Given the description of an element on the screen output the (x, y) to click on. 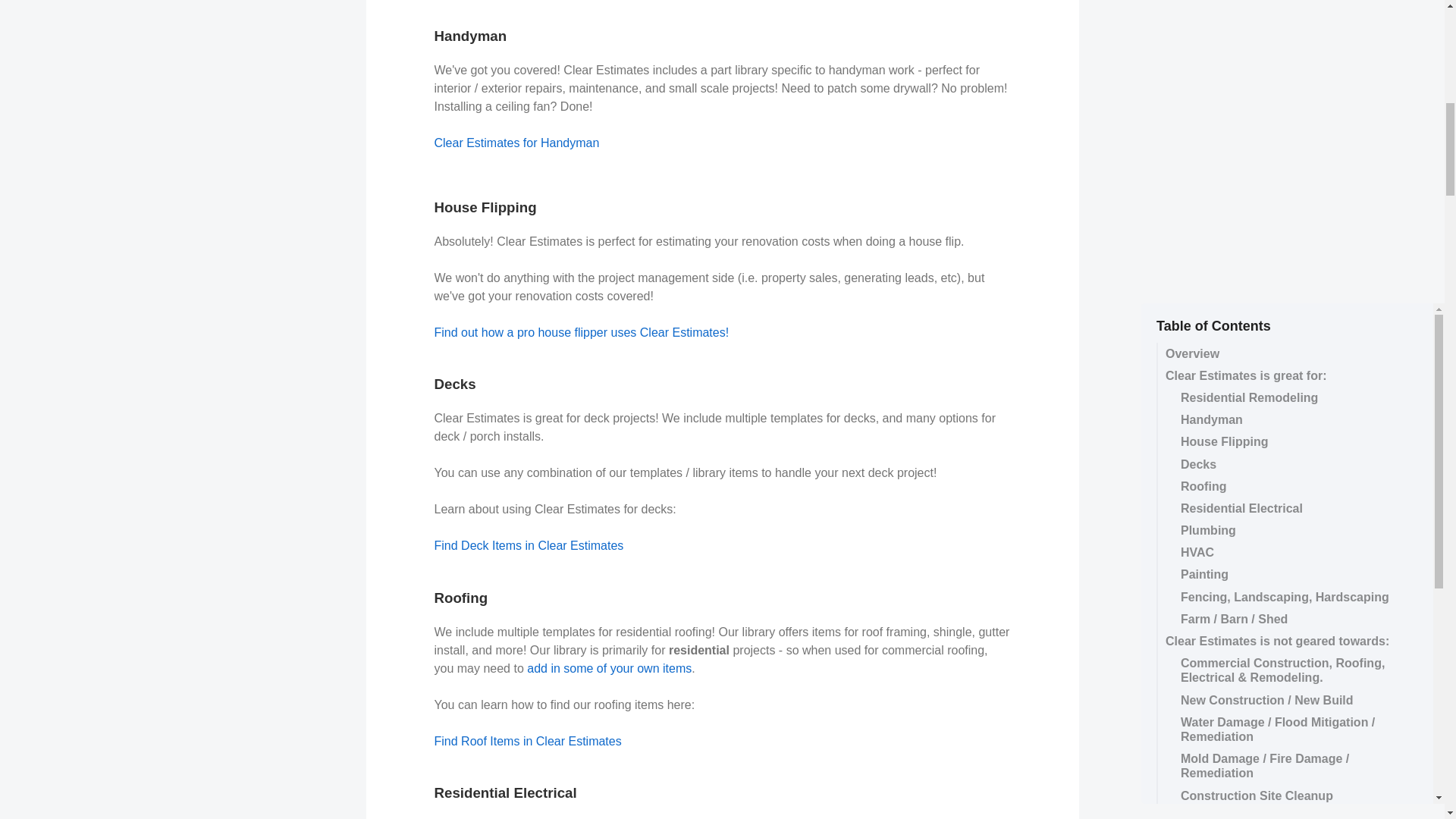
Industrial  (1283, 42)
International Pricing, Canada, UK (1283, 234)
Land Development (1283, 131)
Sewer Work (1283, 109)
Road Construction (1283, 86)
Automotive (1283, 20)
Other (1283, 153)
Welding  (1283, 65)
